Given the description of an element on the screen output the (x, y) to click on. 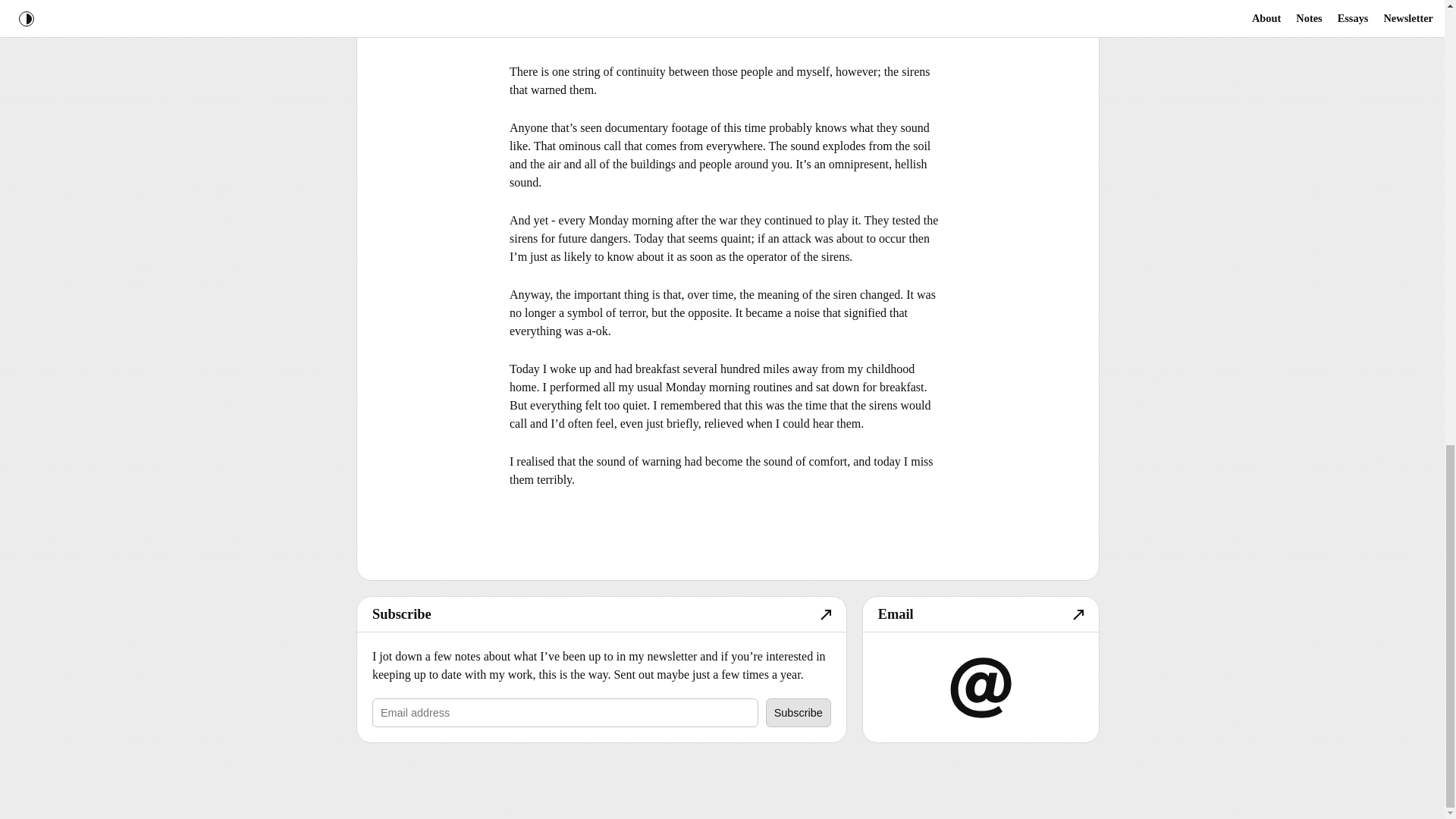
Subscribe (600, 615)
Subscribe (798, 712)
Subscribe (798, 712)
Email (981, 615)
